Given the description of an element on the screen output the (x, y) to click on. 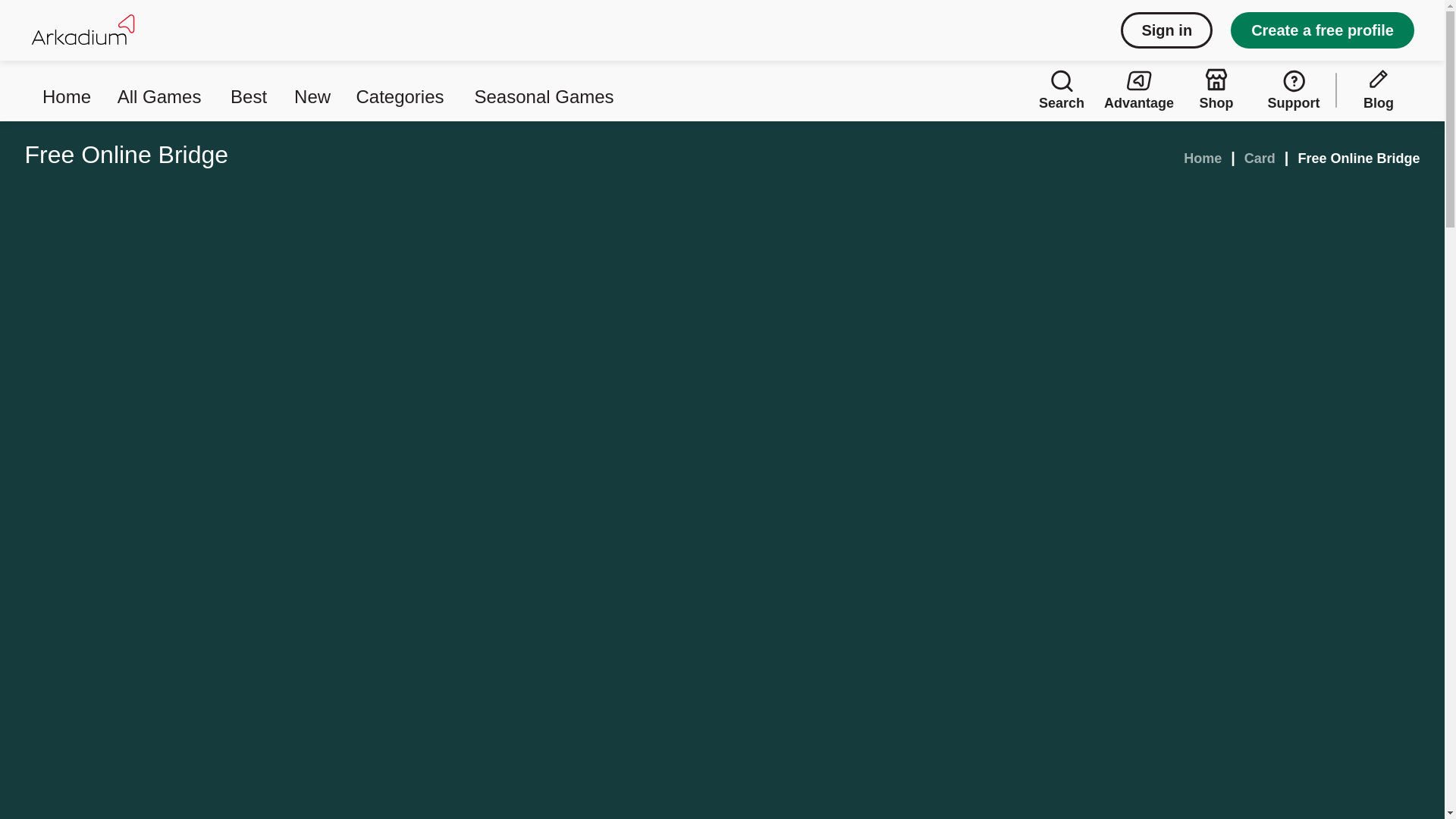
Create a free profile (1321, 30)
Search (1061, 89)
New (312, 89)
Blog (1377, 89)
Categories (402, 89)
Shop (1216, 89)
Home (67, 89)
Advantage (1138, 89)
Go to Home (1202, 158)
Best (250, 89)
Sign in (1166, 30)
Card (1259, 158)
Home (1202, 158)
Go to Card (1259, 158)
All Games (161, 89)
